Given the description of an element on the screen output the (x, y) to click on. 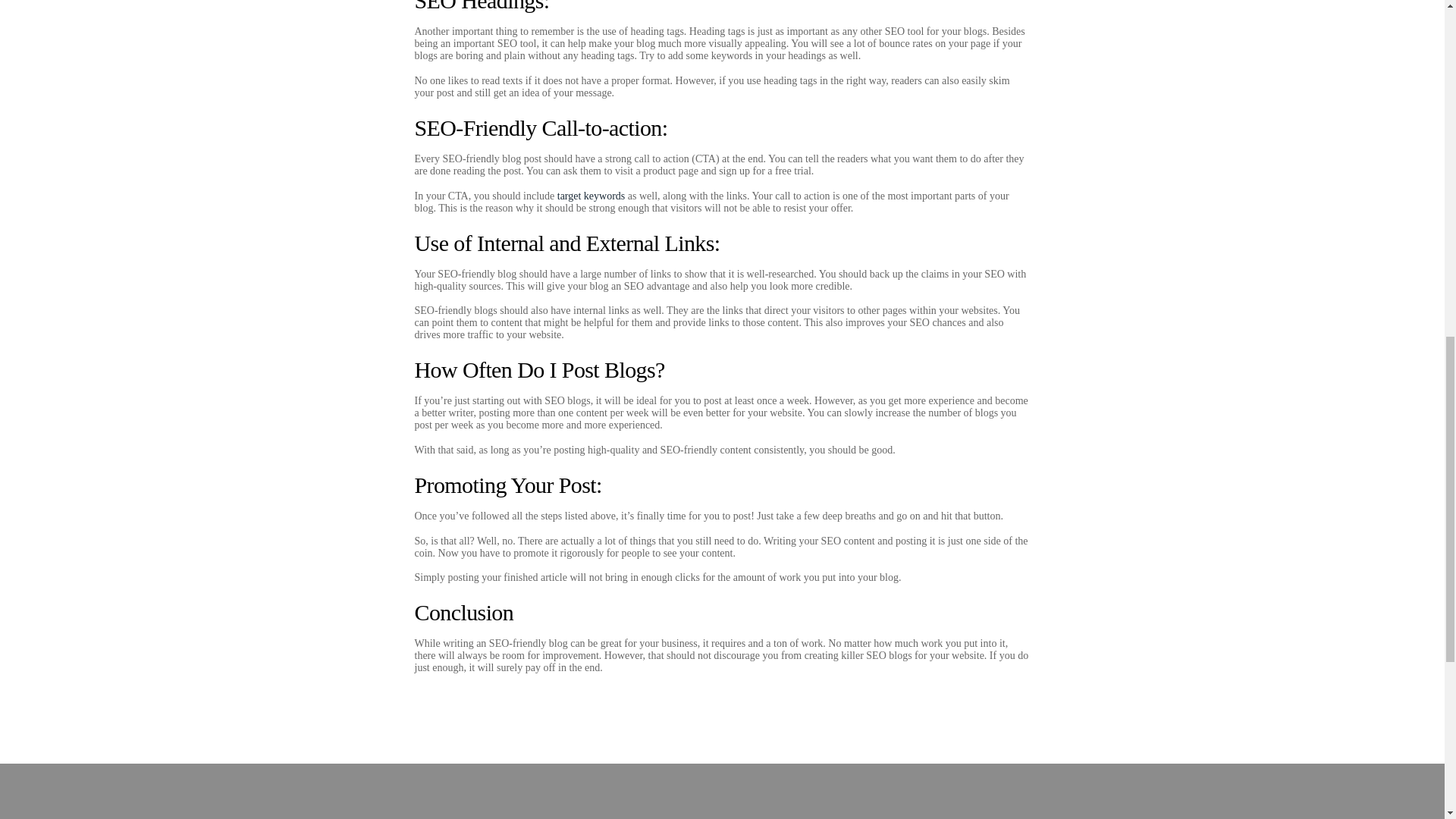
Zoom (902, 791)
Email (541, 791)
Call (180, 791)
